Given the description of an element on the screen output the (x, y) to click on. 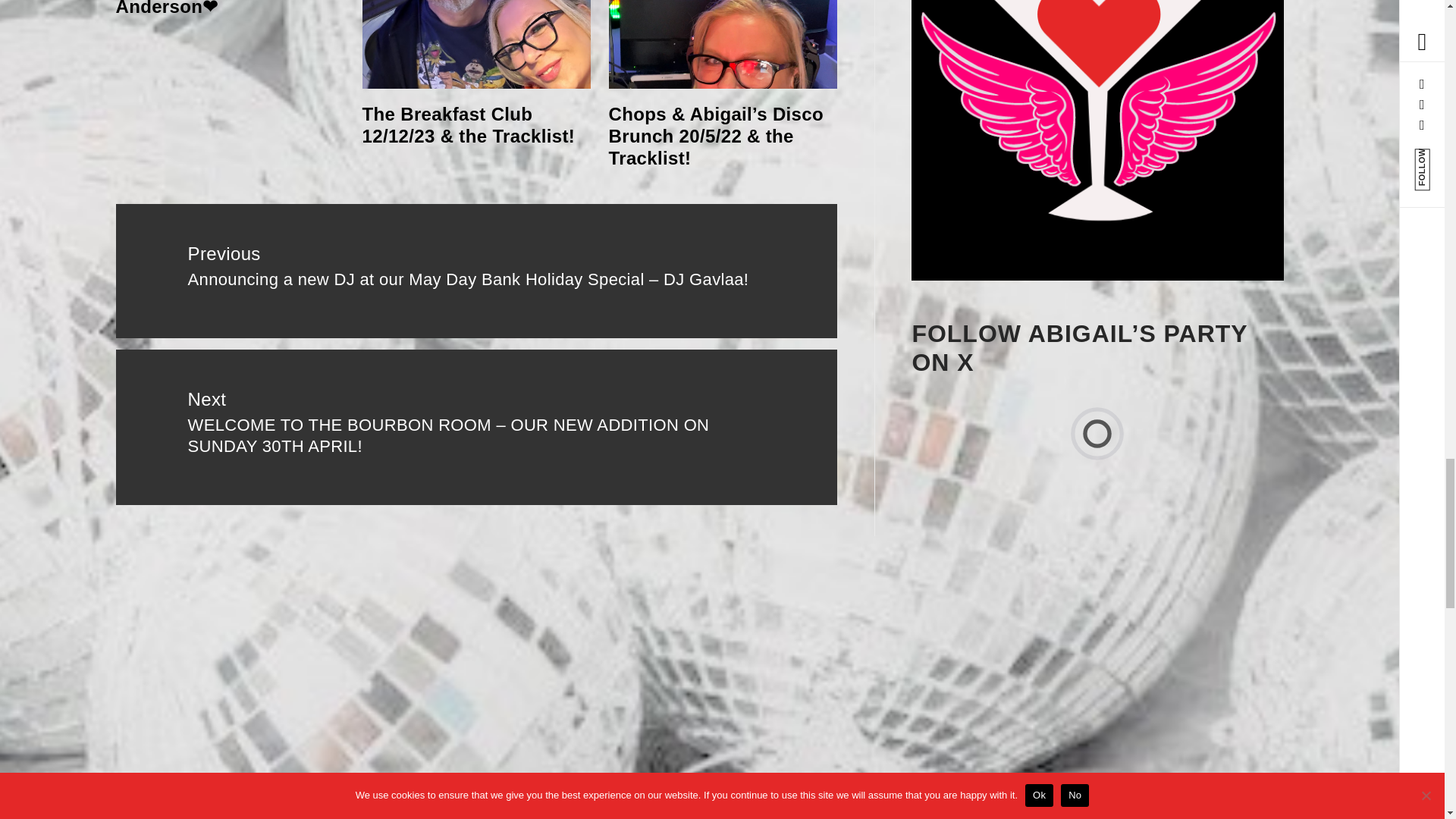
FOLLOW ABIGAIL'S PARTY ON FACEBOOK (1096, 140)
